Given the description of an element on the screen output the (x, y) to click on. 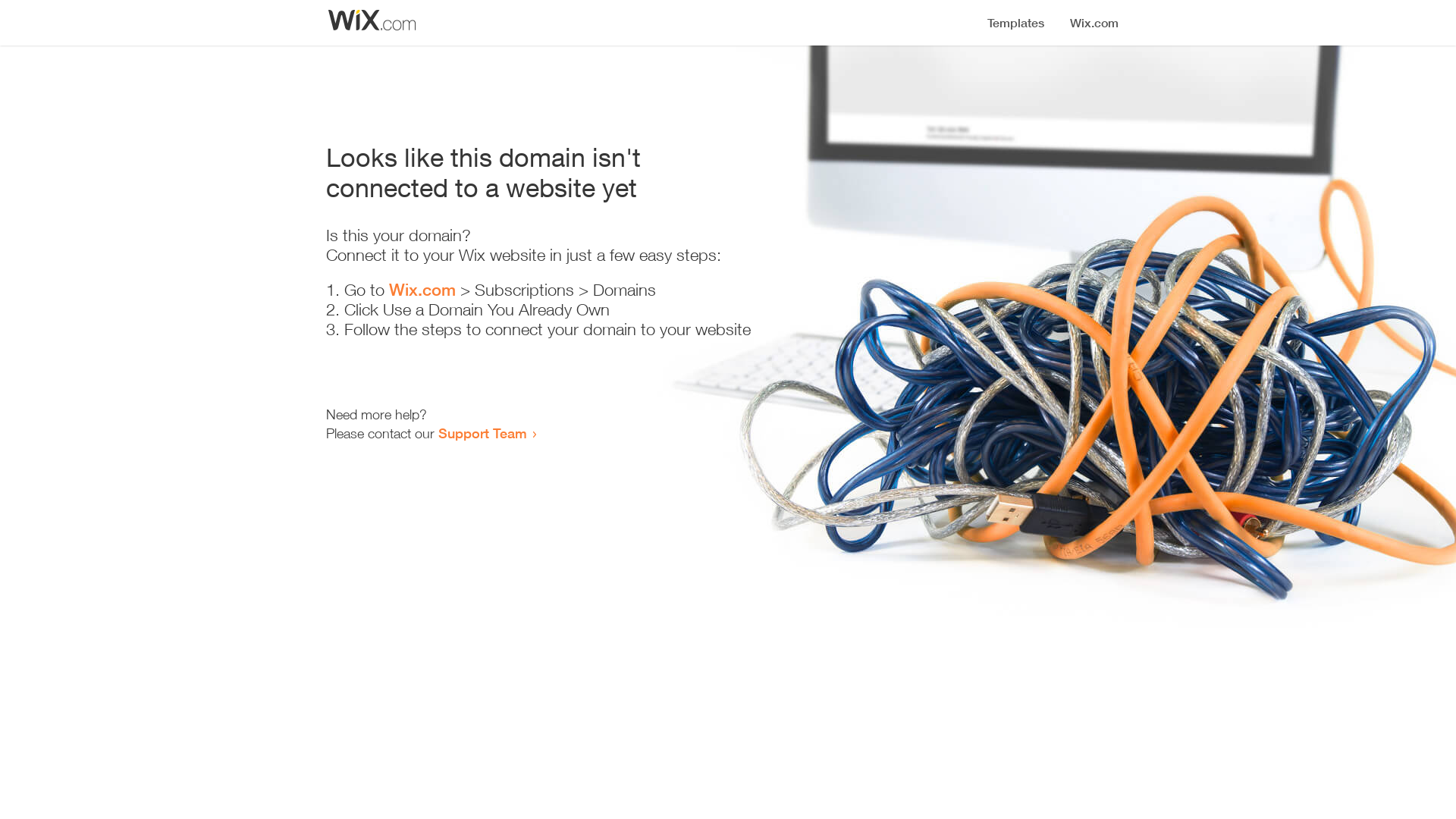
Wix.com Element type: text (422, 289)
Support Team Element type: text (482, 432)
